Given the description of an element on the screen output the (x, y) to click on. 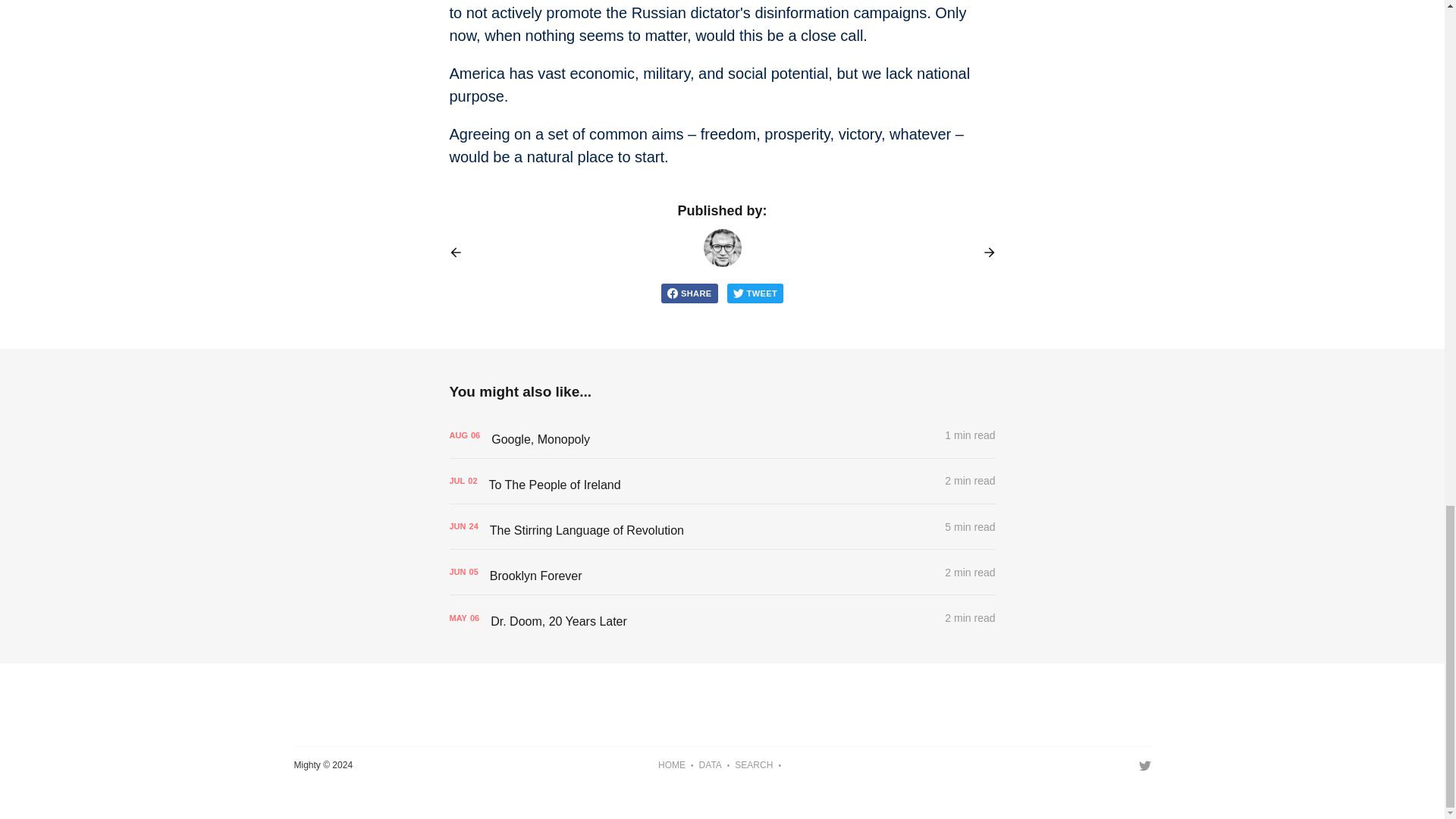
HOME (671, 765)
DATA (710, 765)
TWEET (755, 293)
SHARE (689, 293)
SEARCH (754, 765)
